Given the description of an element on the screen output the (x, y) to click on. 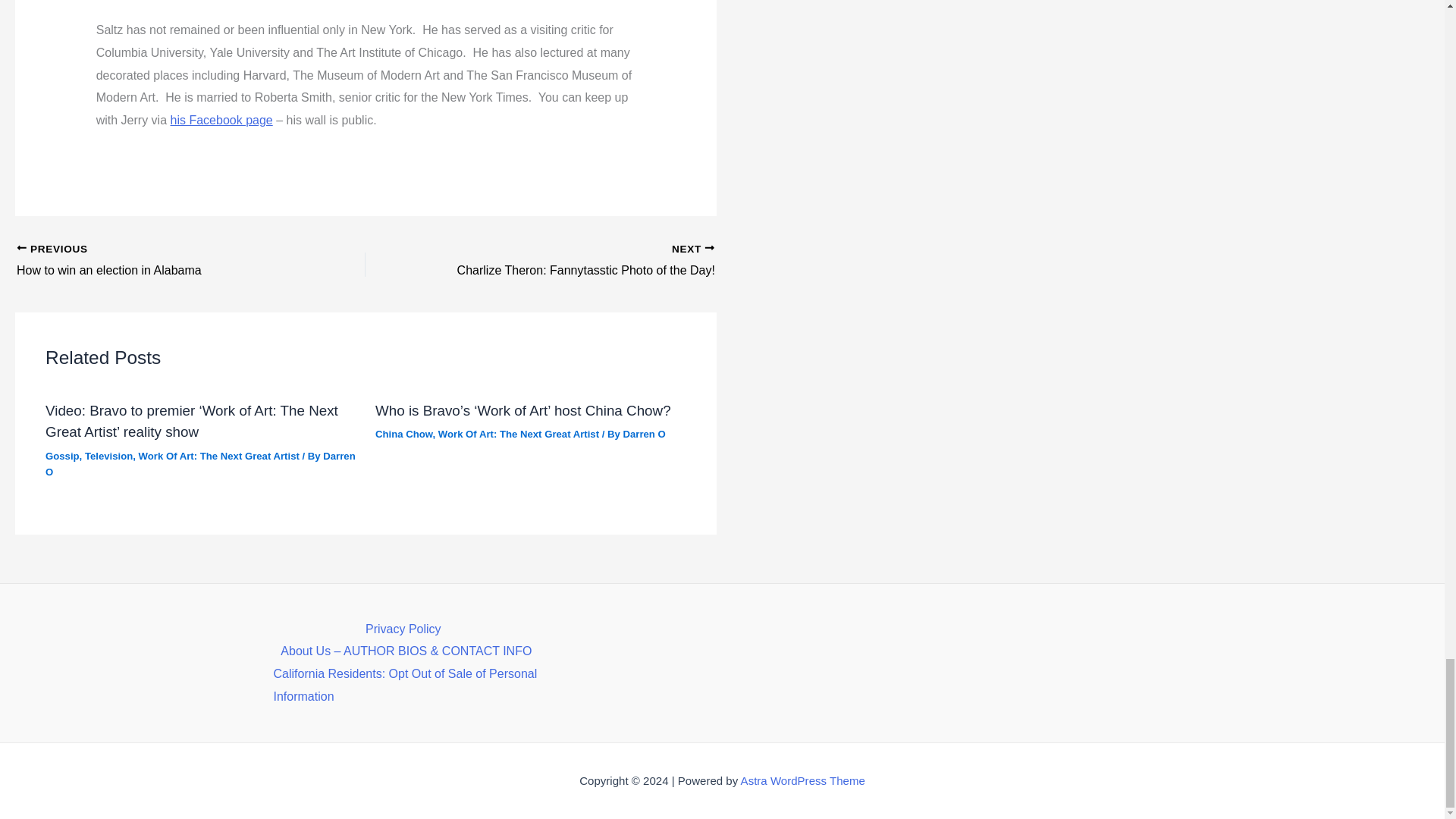
View all posts by Darren O (200, 463)
View all posts by Darren O (644, 433)
Charlize Theron: Fannytasstic Photo of the Day! (573, 261)
How to win an election in Alabama (156, 261)
